Given the description of an element on the screen output the (x, y) to click on. 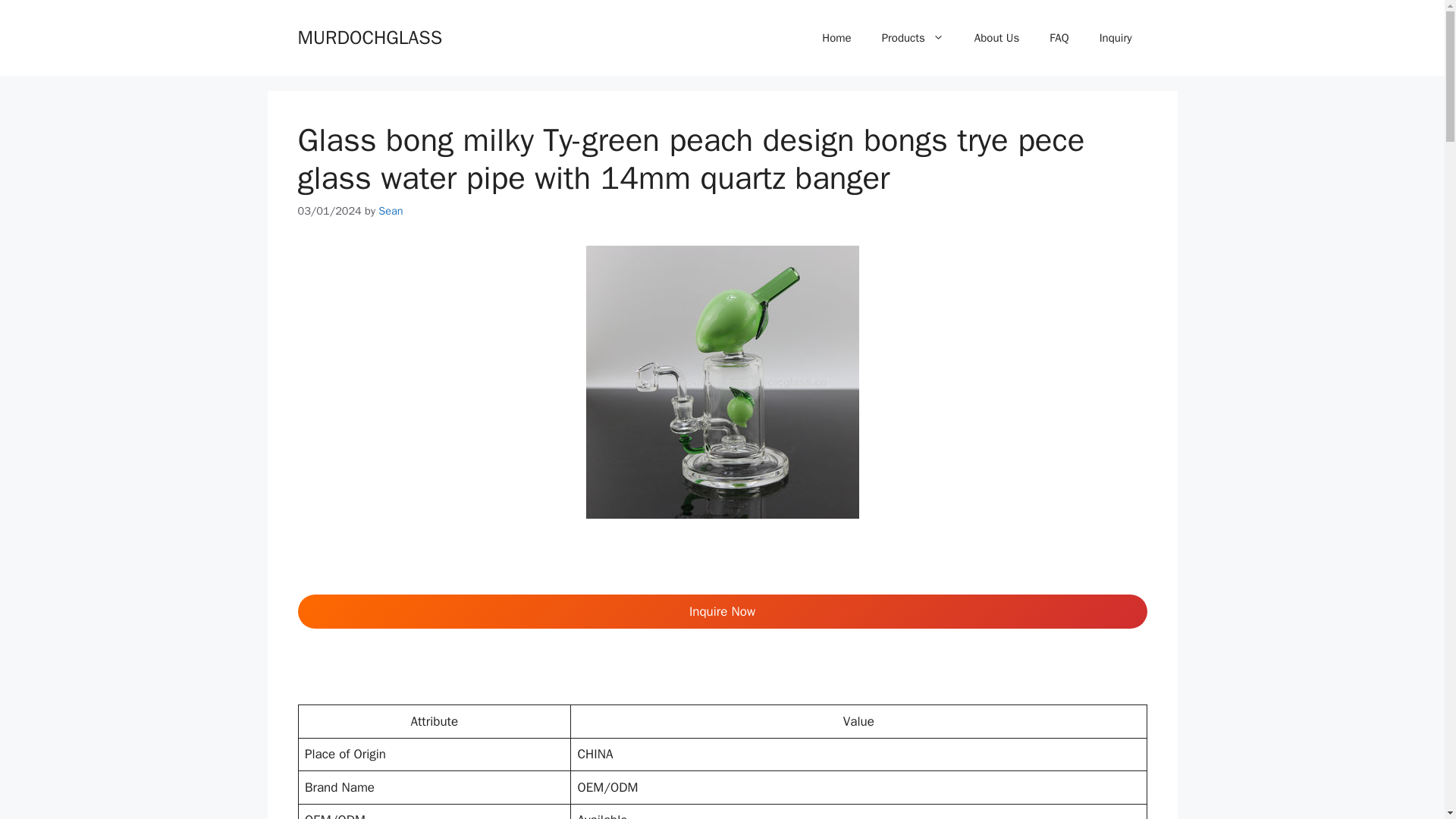
Products (912, 37)
About Us (996, 37)
Sean (390, 210)
Inquire Now (722, 611)
MURDOCHGLASS (369, 37)
Inquiry (1115, 37)
FAQ (1058, 37)
View all posts by Sean (390, 210)
Home (836, 37)
